Given the description of an element on the screen output the (x, y) to click on. 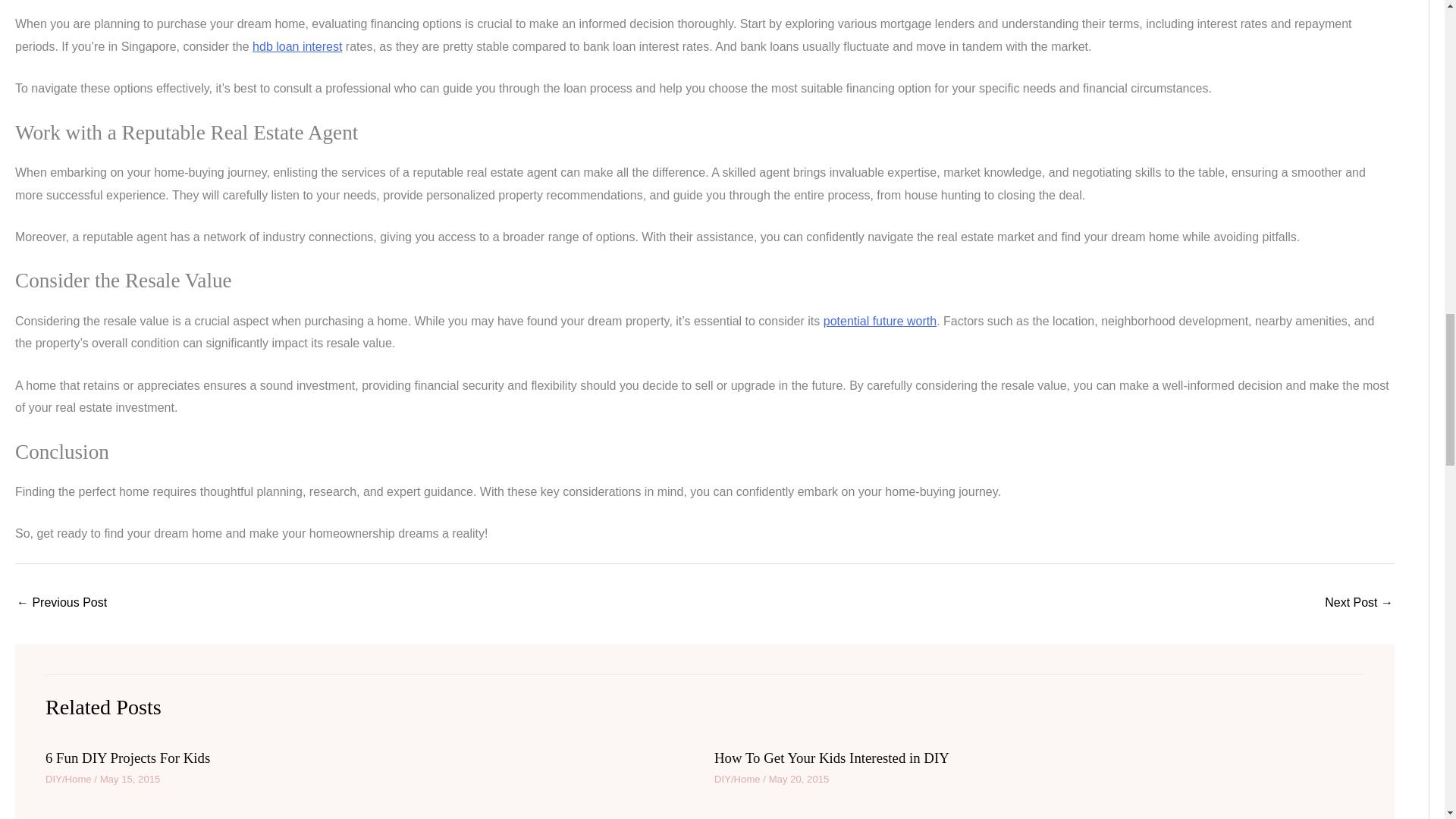
5 Quick Recipes For Busy Weeknights (61, 603)
6 Fun DIY Projects For Kids (127, 757)
hdb loan interest (296, 46)
Speed Up Carpet Drying with the Right Carpet Dryer (1358, 603)
potential future worth (880, 320)
How To Get Your Kids Interested in DIY (831, 757)
